Given the description of an element on the screen output the (x, y) to click on. 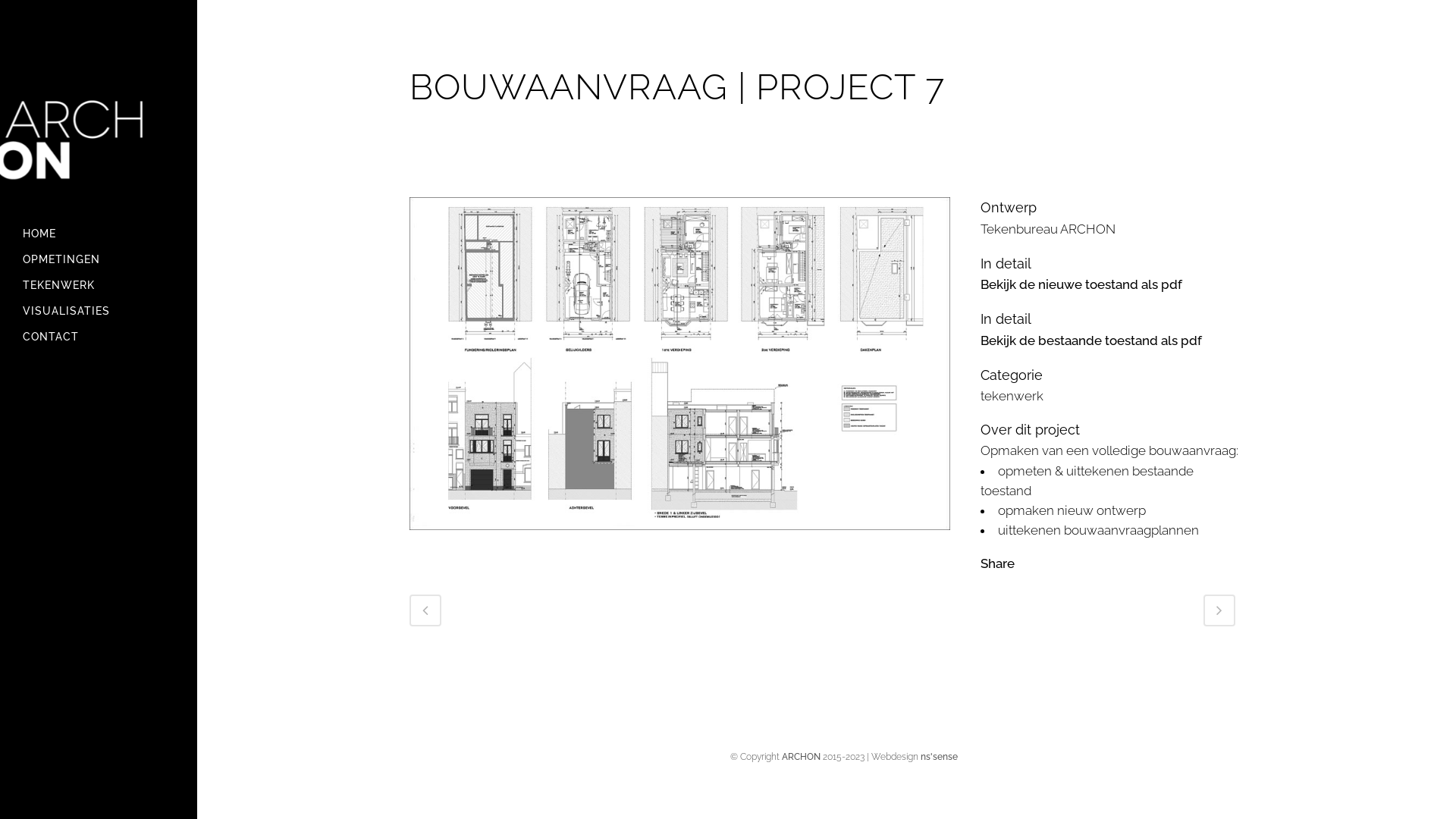
VISUALISATIES Element type: text (98, 310)
CONTACT Element type: text (98, 336)
Share Element type: text (997, 563)
Bekijk de nieuwe toestand als pdf Element type: text (1081, 283)
OPMETINGEN Element type: text (98, 259)
Bekijk de bestaande toestand als pdf Element type: text (1090, 340)
ARCHON Element type: text (800, 756)
ns'sense Element type: text (938, 756)
HOME Element type: text (98, 233)
TEKENWERK Element type: text (98, 285)
